Given the description of an element on the screen output the (x, y) to click on. 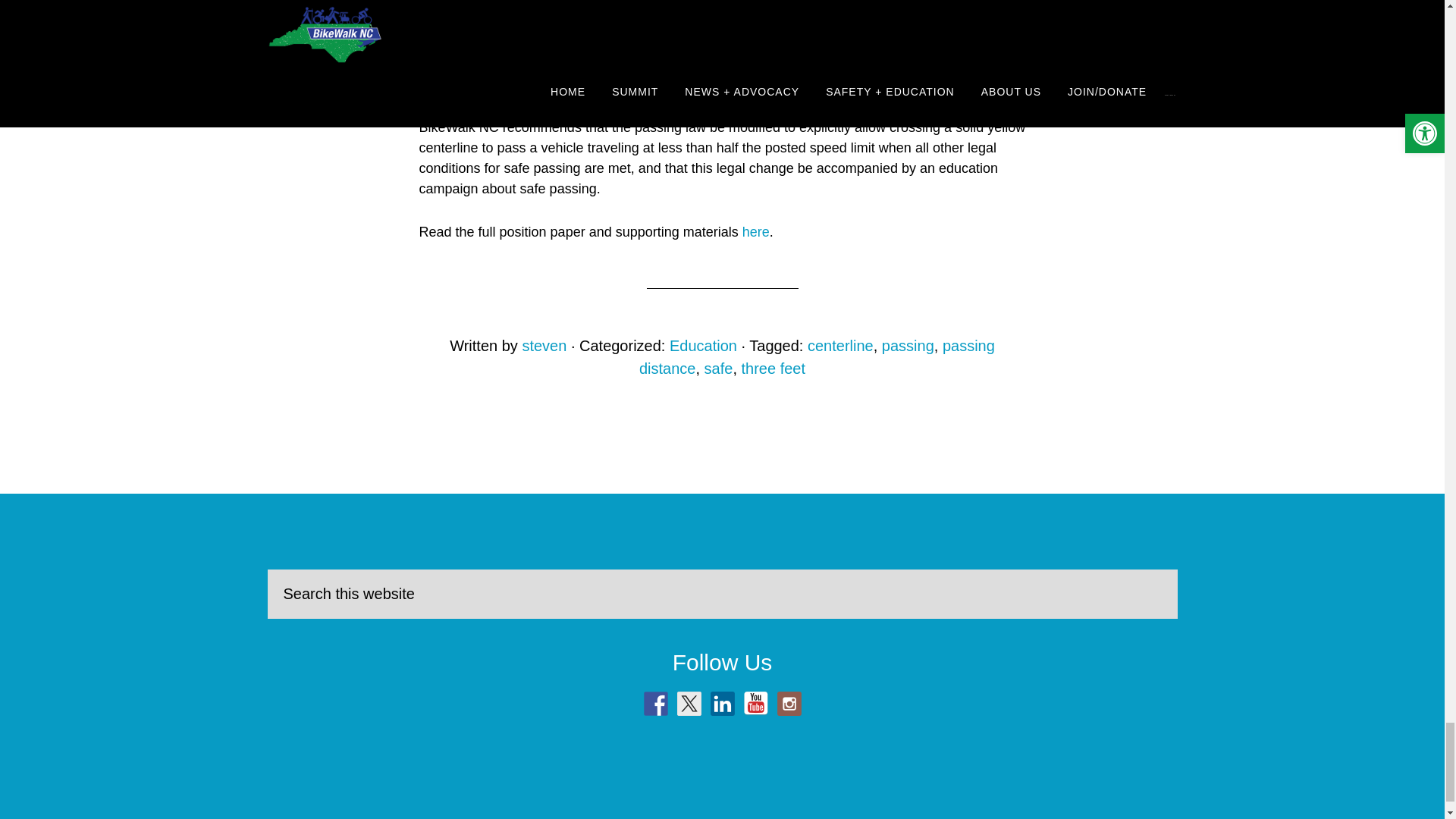
Follow us on Twitter (688, 703)
Find us on Linkedin (721, 703)
Follow us on Facebook (654, 703)
Check out our instagram feed (788, 703)
Find us on YouTube (754, 703)
